Given the description of an element on the screen output the (x, y) to click on. 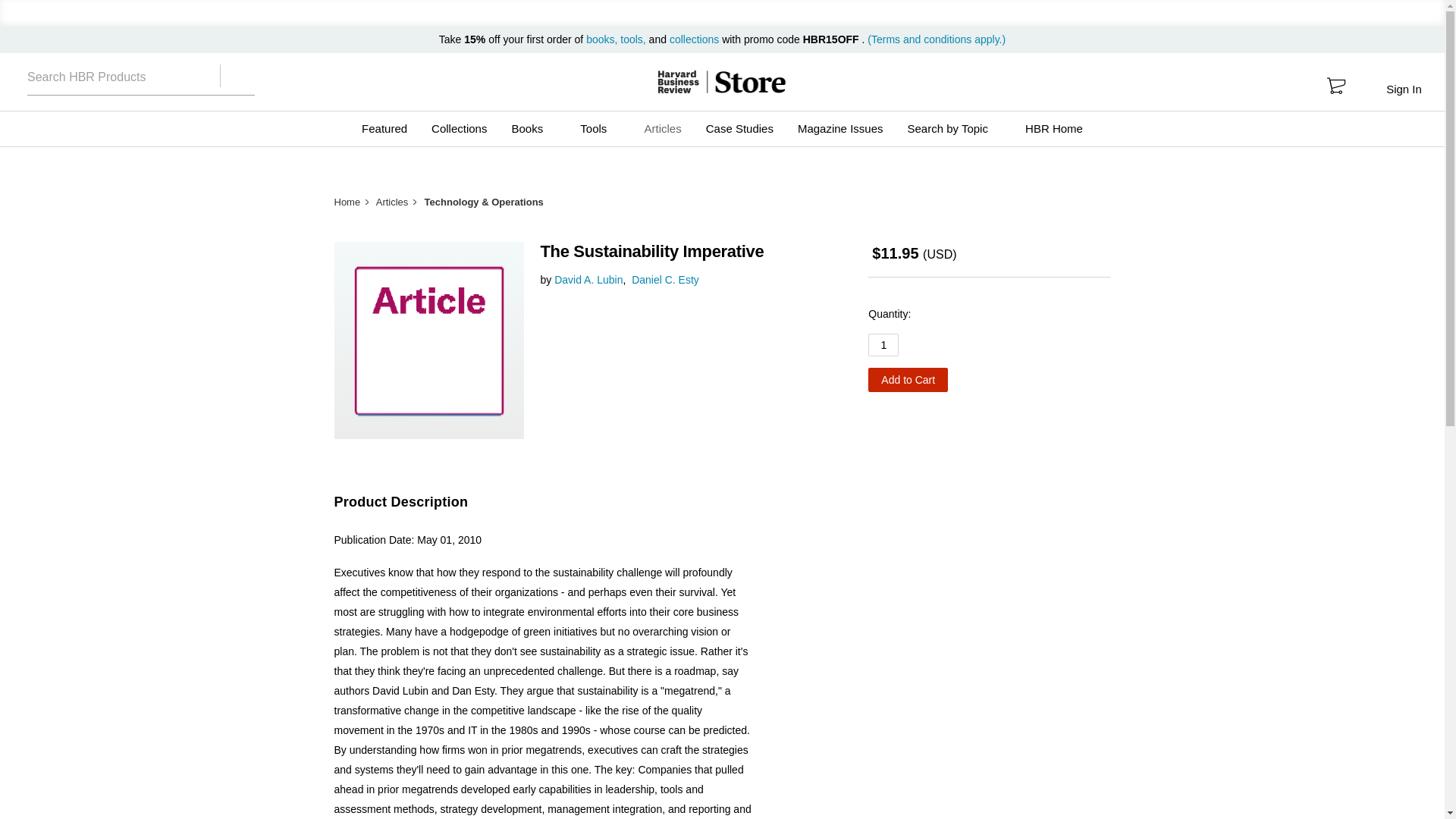
1 (882, 344)
Featured (384, 128)
collections (694, 39)
Add to Cart (907, 379)
books, (603, 39)
HBR.ORG - Prod (678, 81)
Sign In (1403, 88)
Tools (599, 128)
Books (533, 128)
Collections (459, 128)
